Given the description of an element on the screen output the (x, y) to click on. 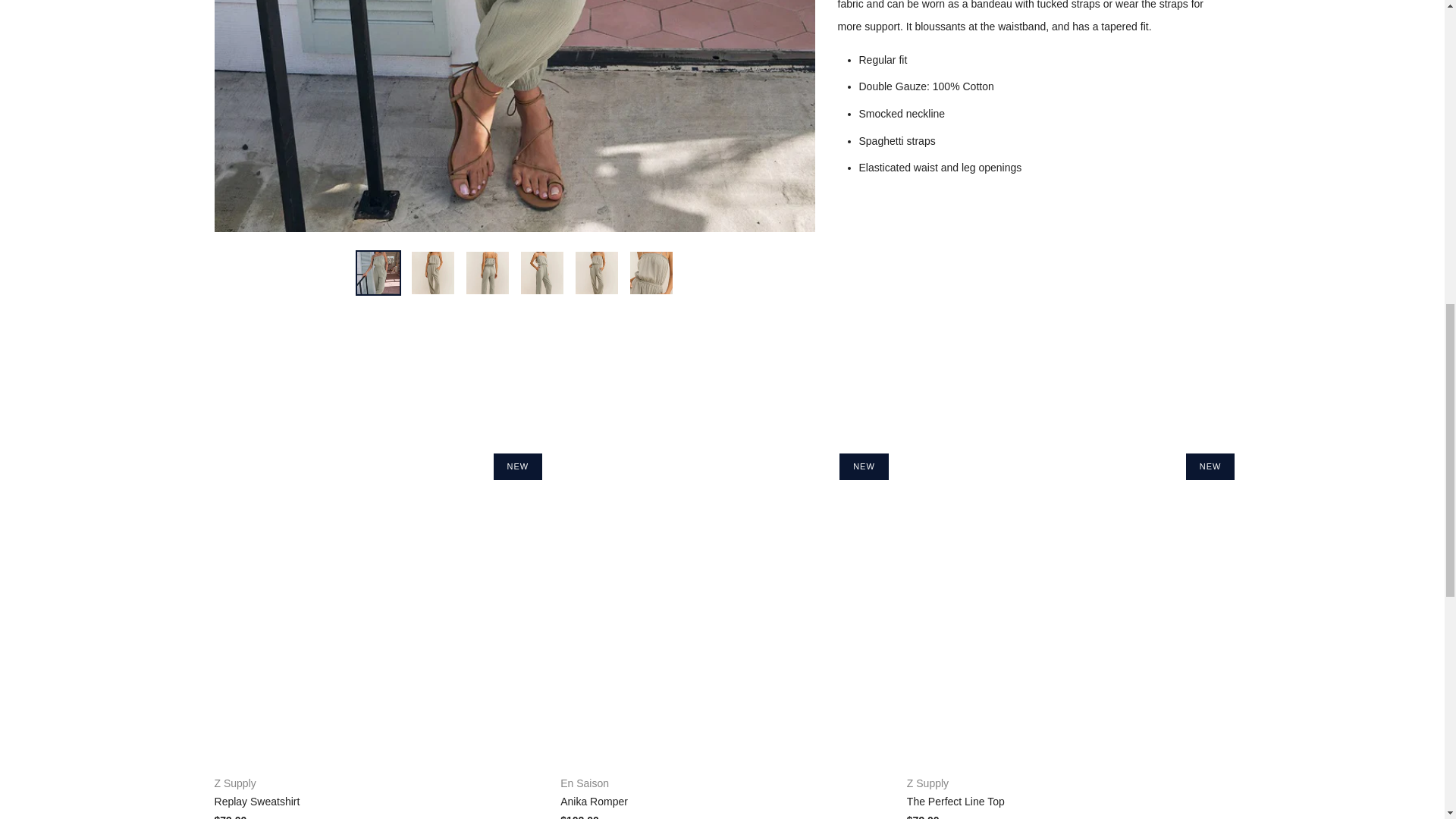
Anika Romper (721, 816)
Replay Sweatshirt (376, 792)
Replay Sweatshirt (376, 816)
Anika Romper (721, 792)
